Given the description of an element on the screen output the (x, y) to click on. 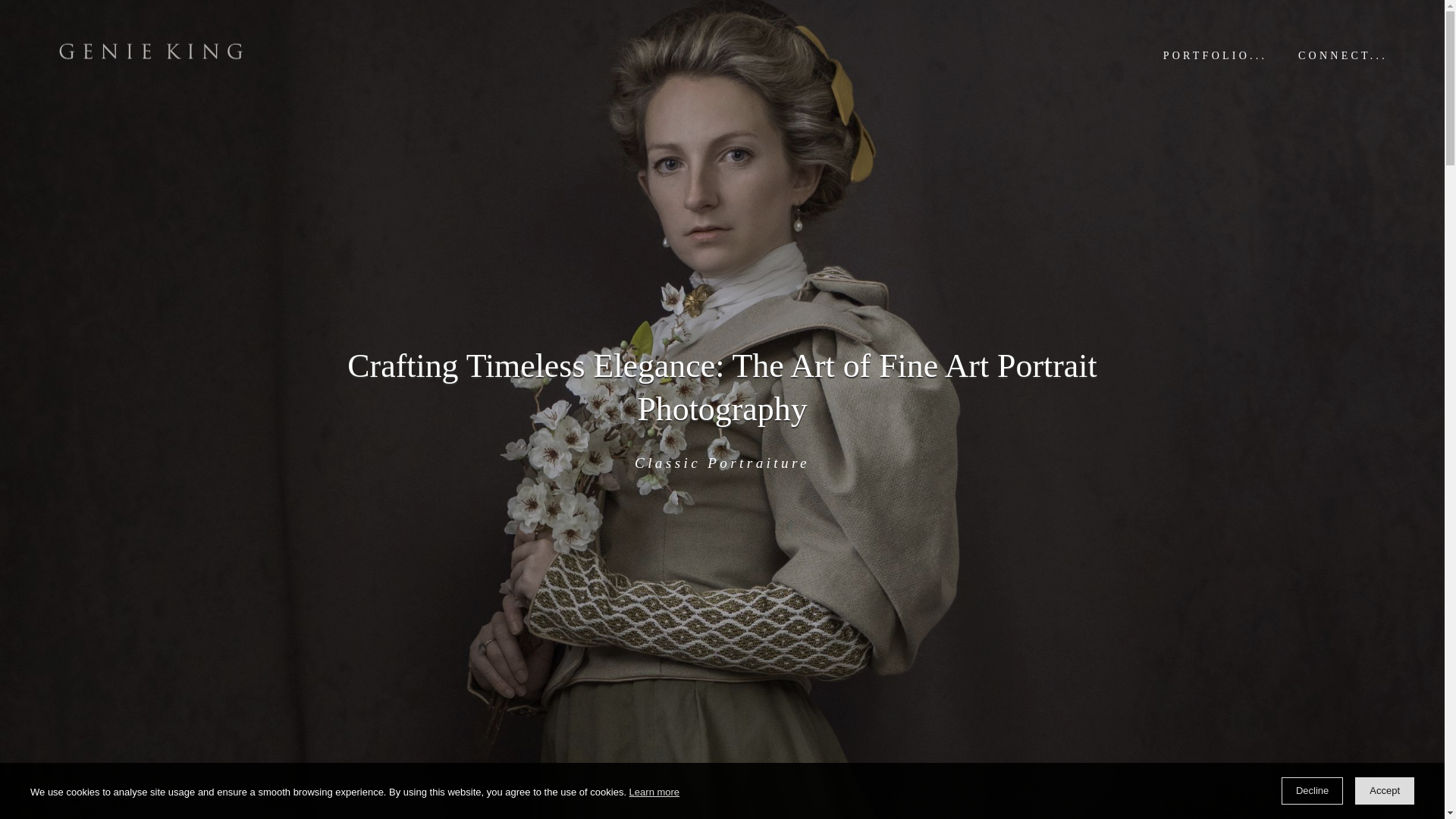
Decline (1311, 790)
Learn more (653, 791)
CONNECT... (1343, 54)
PORTFOLIO... (1214, 54)
Accept (1384, 790)
